Given the description of an element on the screen output the (x, y) to click on. 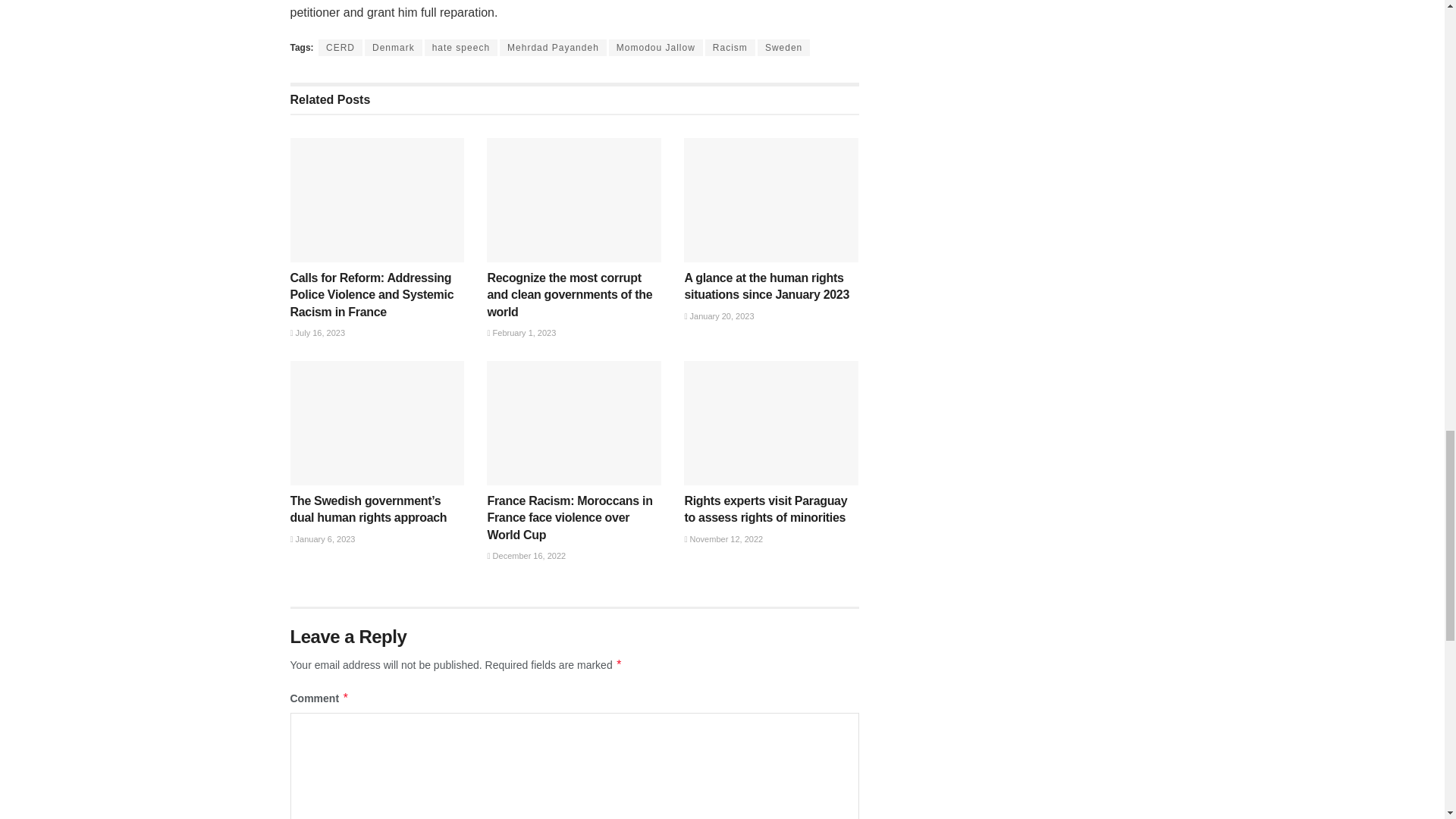
Denmark (393, 47)
CERD (340, 47)
Mehrdad Payandeh (553, 47)
hate speech (461, 47)
